Given the description of an element on the screen output the (x, y) to click on. 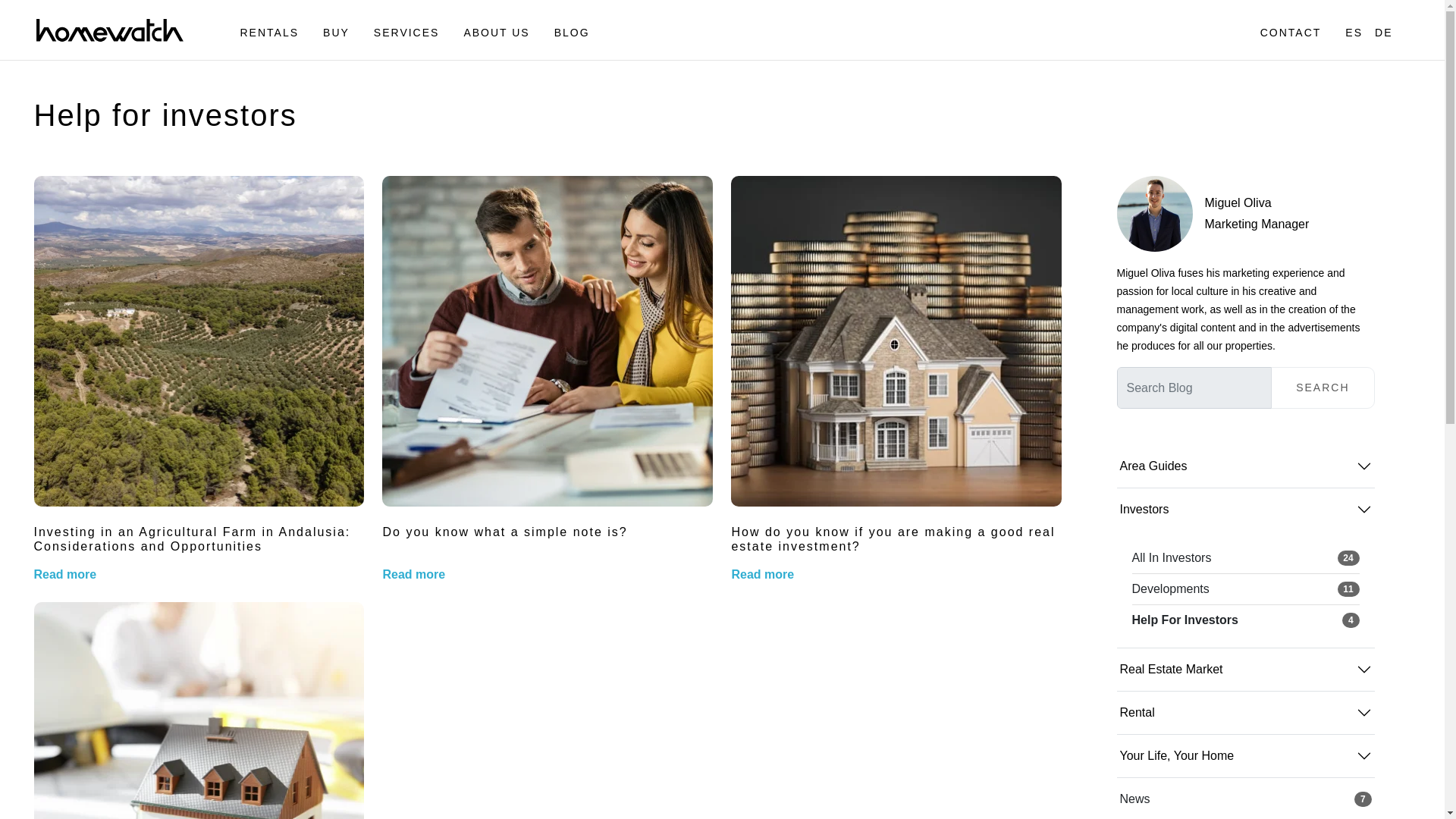
CONTACT (1244, 558)
SEARCH (1274, 32)
RENTALS (1322, 387)
BUY (268, 32)
ABOUT US (336, 32)
Area Guides (496, 32)
Do you know what a simple note is? (1244, 620)
